Given the description of an element on the screen output the (x, y) to click on. 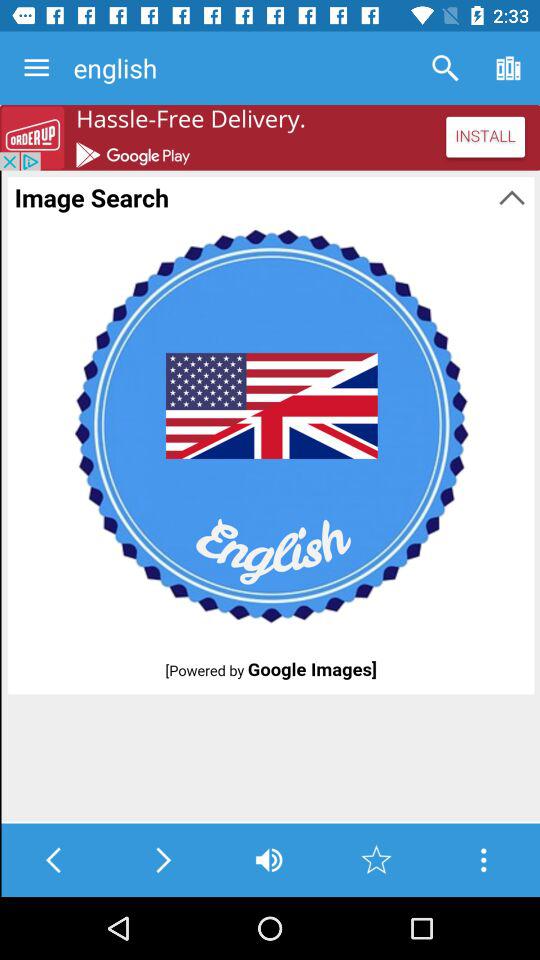
image search (270, 495)
